Given the description of an element on the screen output the (x, y) to click on. 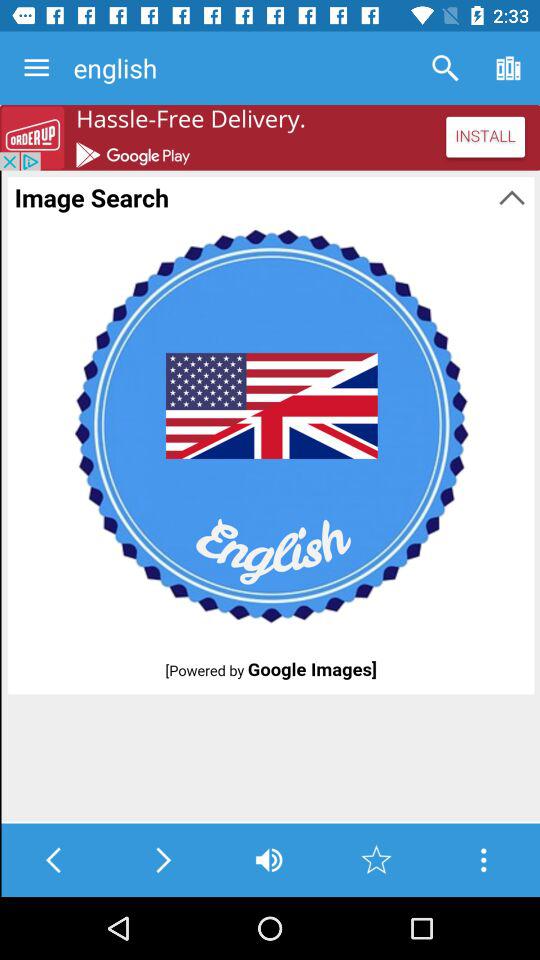
image search (270, 495)
